Given the description of an element on the screen output the (x, y) to click on. 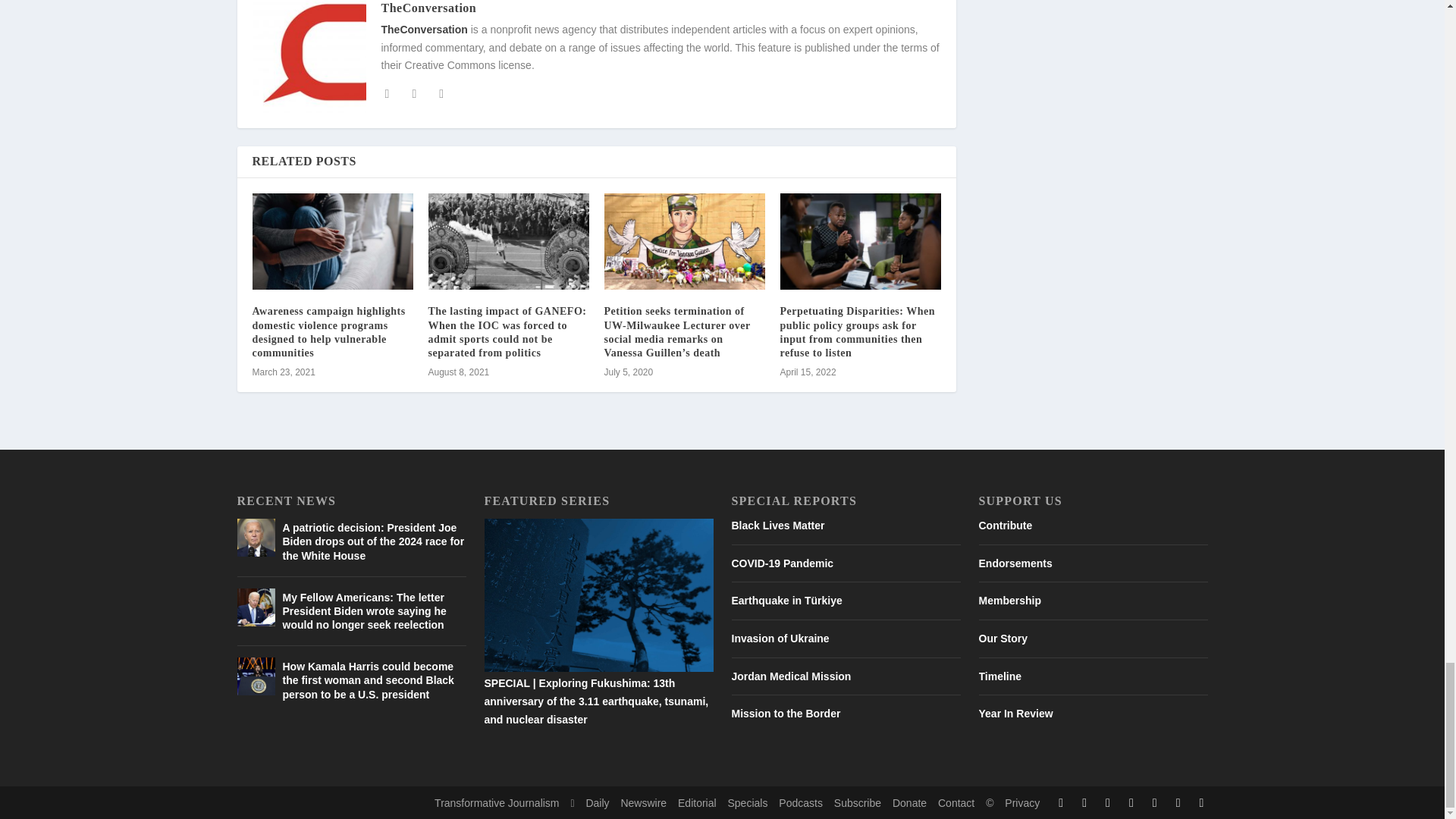
View all posts by TheConversation (428, 7)
